Given the description of an element on the screen output the (x, y) to click on. 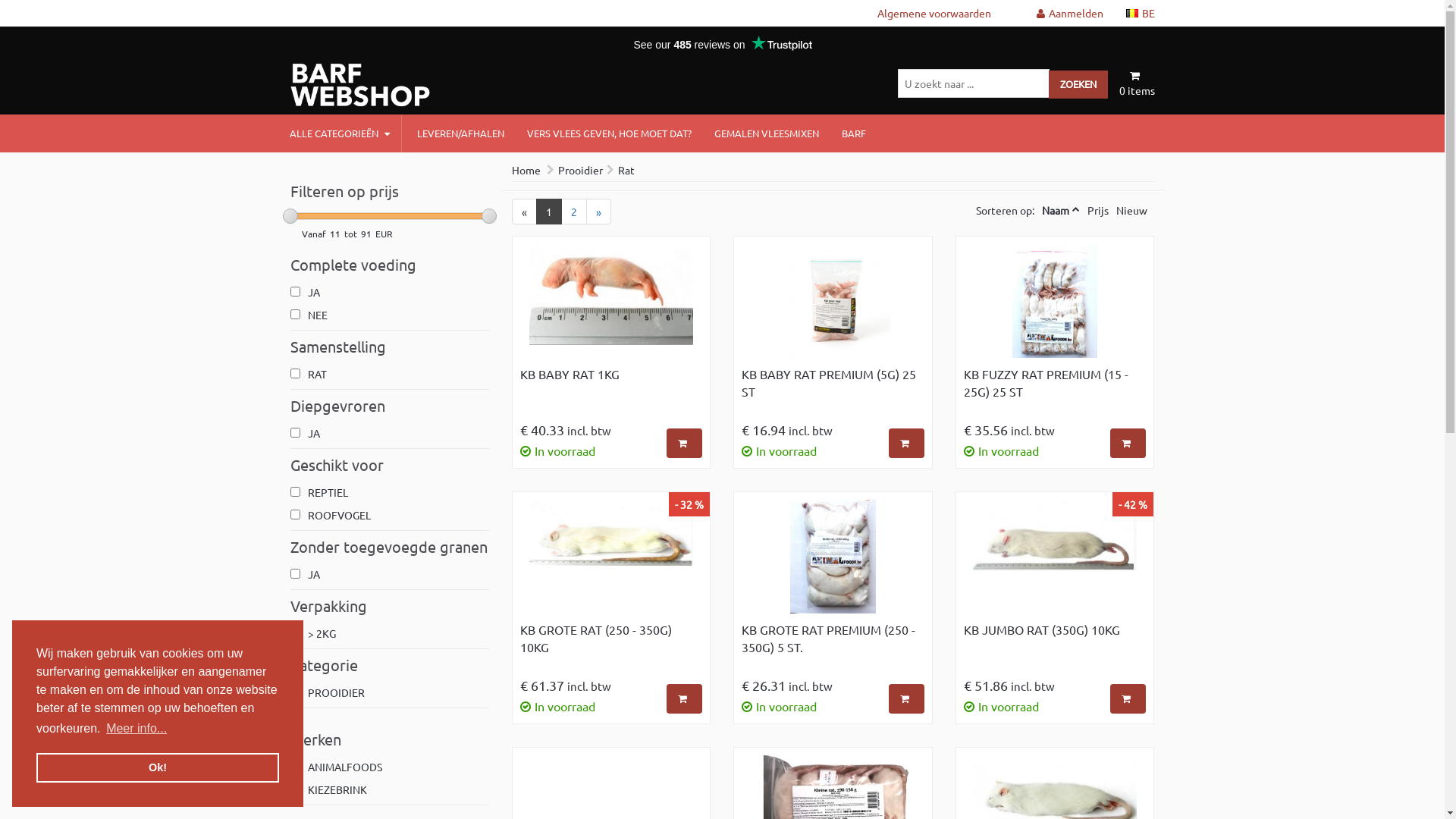
Toevoegen aan winkelmandje Element type: hover (906, 698)
Algemene voorwaarden Element type: text (934, 12)
KB Fuzzy rat Premium (15 - 25g)  25 st Element type: hover (1055, 300)
Nieuw Element type: text (1131, 209)
Rat Element type: text (626, 169)
Toevoegen aan winkelmandje Element type: hover (684, 443)
KB Grote rat Premium (250 - 350g)  5 st. Element type: hover (832, 560)
Customer reviews powered by Trustpilot Element type: hover (721, 44)
Prijs Element type: text (1097, 209)
KB Grote rat (250 - 350g) 10kg Element type: hover (611, 560)
KB Baby rat 1kg Element type: hover (611, 294)
2 Element type: text (573, 211)
Toevoegen aan winkelmandje Element type: hover (906, 443)
LEVEREN/AFHALEN Element type: text (460, 133)
KB Grote rat (250 - 350g) 10kg Element type: hover (611, 532)
KB Grote rat Premium (250 - 350g)  5 st. Element type: hover (832, 556)
BARF Element type: text (853, 133)
ZOEKEN Element type: text (1077, 84)
KB Jumbo rat (350g) 10kg Element type: hover (1054, 560)
Prooidier Element type: text (580, 169)
KB Baby rat Premium  (5g) 25 st Element type: hover (833, 300)
Toevoegen aan winkelmandje Element type: hover (1127, 698)
KB BABY RAT PREMIUM (5G) 25 ST Element type: text (832, 388)
KB FUZZY RAT PREMIUM (15 - 25G) 25 ST Element type: text (1054, 388)
Home Element type: text (525, 169)
GEMALEN VLEESMIXEN Element type: text (766, 133)
Toevoegen aan winkelmandje Element type: hover (1127, 443)
Naam Element type: text (1055, 209)
KB GROTE RAT PREMIUM (250 - 350G) 5 ST. Element type: text (832, 643)
KB Baby rat Premium  (5g) 25 st Element type: hover (832, 304)
KB Jumbo rat (350g) 10kg Element type: hover (1054, 535)
KB JUMBO RAT (350G) 10KG Element type: text (1054, 643)
Ok! Element type: text (157, 767)
KB BABY RAT 1KG Element type: text (611, 388)
KB GROTE RAT (250 - 350G) 10KG Element type: text (611, 643)
VERS VLEES GEVEN, HOE MOET DAT? Element type: text (608, 133)
KB Jumbo rat Premium  ( > 350g)  5 st Element type: hover (611, 755)
Meer info... Element type: text (136, 728)
Toevoegen aan winkelmandje Element type: hover (684, 698)
1 Element type: text (548, 211)
0 items Element type: text (1136, 82)
KB Fuzzy rat Premium (15 - 25g)  25 st Element type: hover (1054, 304)
KB Baby rat 1kg Element type: hover (611, 304)
